Given the description of an element on the screen output the (x, y) to click on. 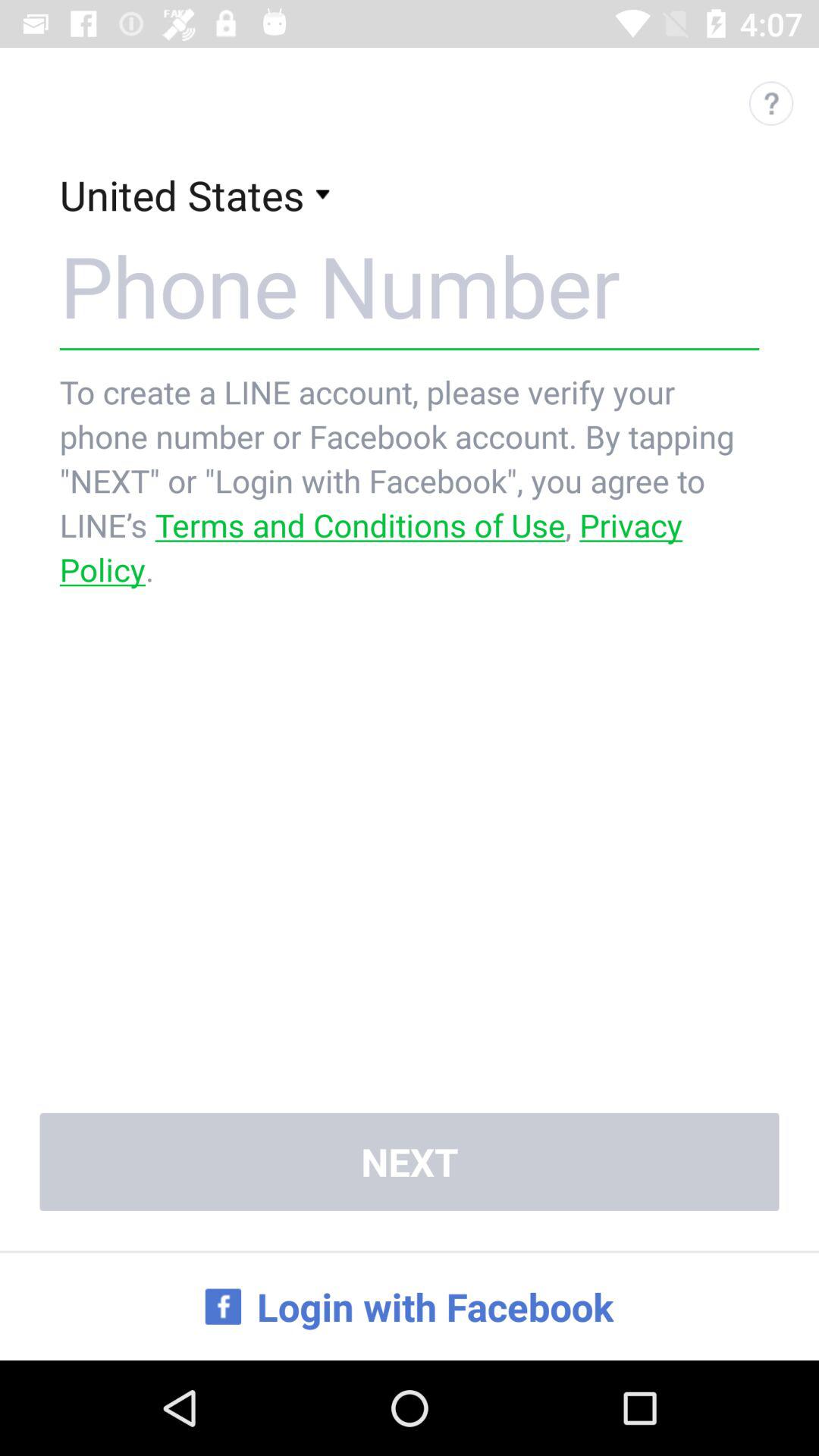
enter phone number (409, 284)
